Given the description of an element on the screen output the (x, y) to click on. 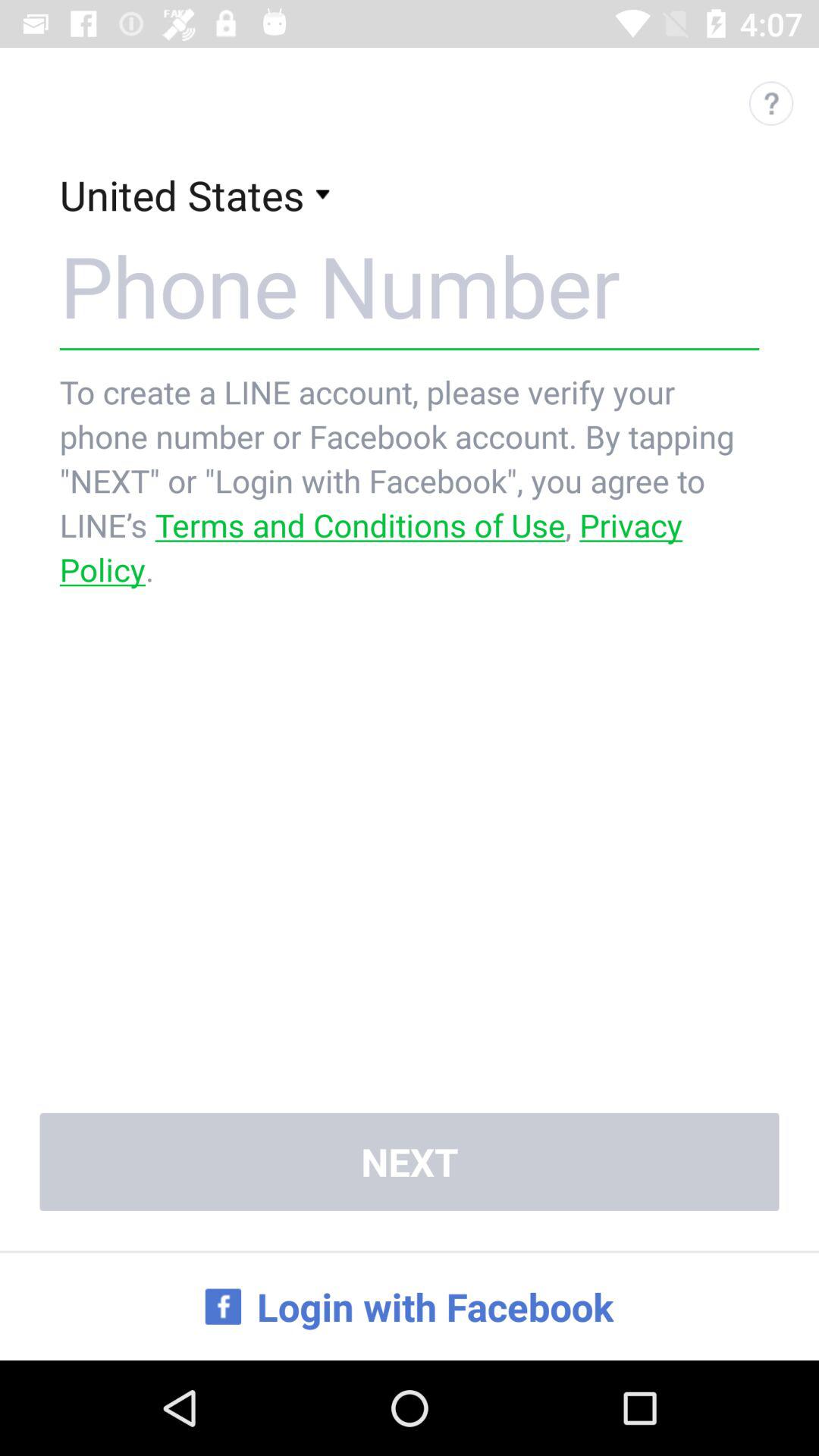
enter phone number (409, 284)
